Given the description of an element on the screen output the (x, y) to click on. 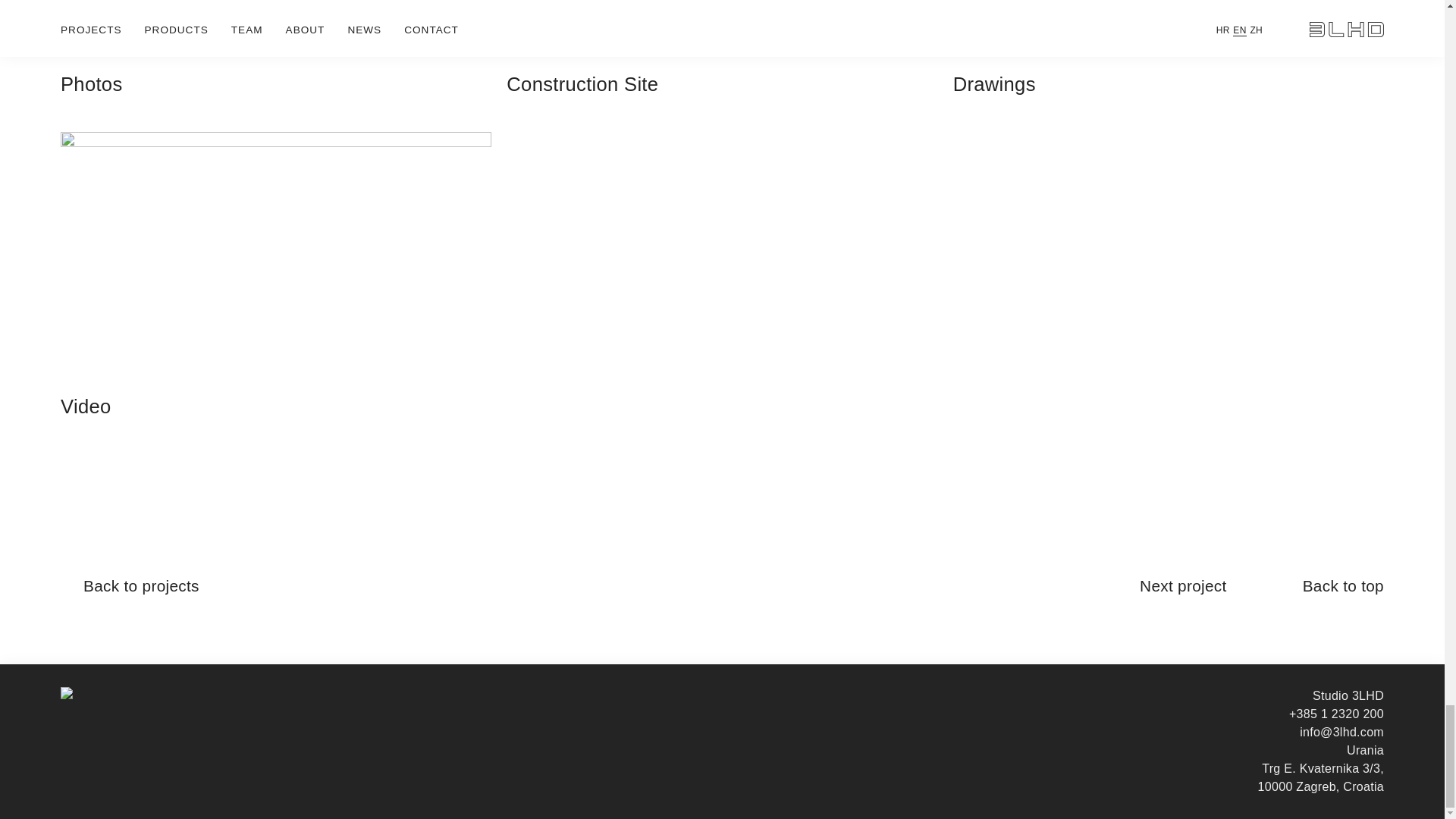
Back to top (1343, 586)
Video (276, 284)
Construction Site (721, 58)
Next project (1183, 586)
Drawings (1168, 58)
Photos (276, 58)
Back to projects (140, 586)
